Given the description of an element on the screen output the (x, y) to click on. 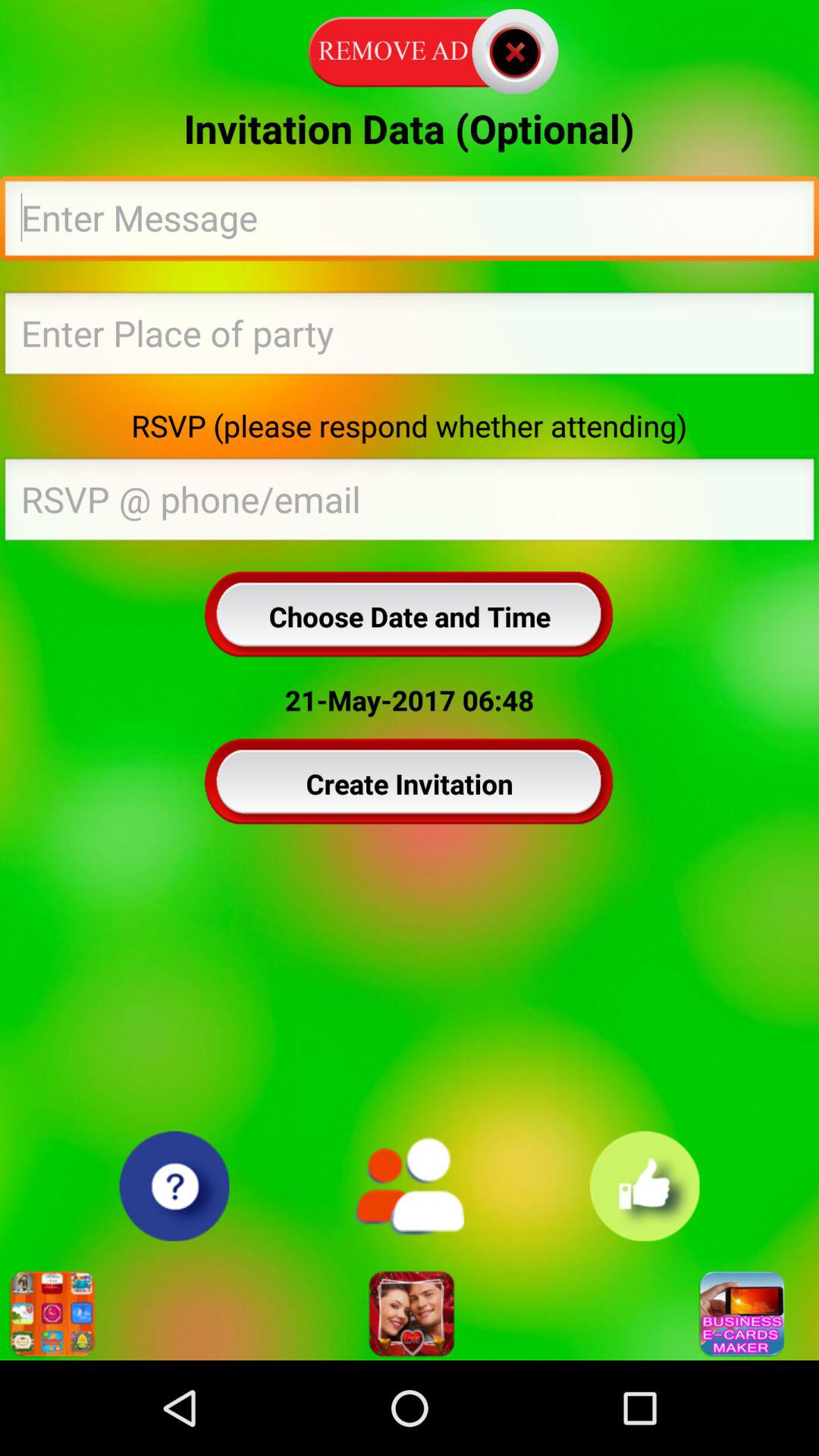
select the create invitation button (409, 783)
